Given the description of an element on the screen output the (x, y) to click on. 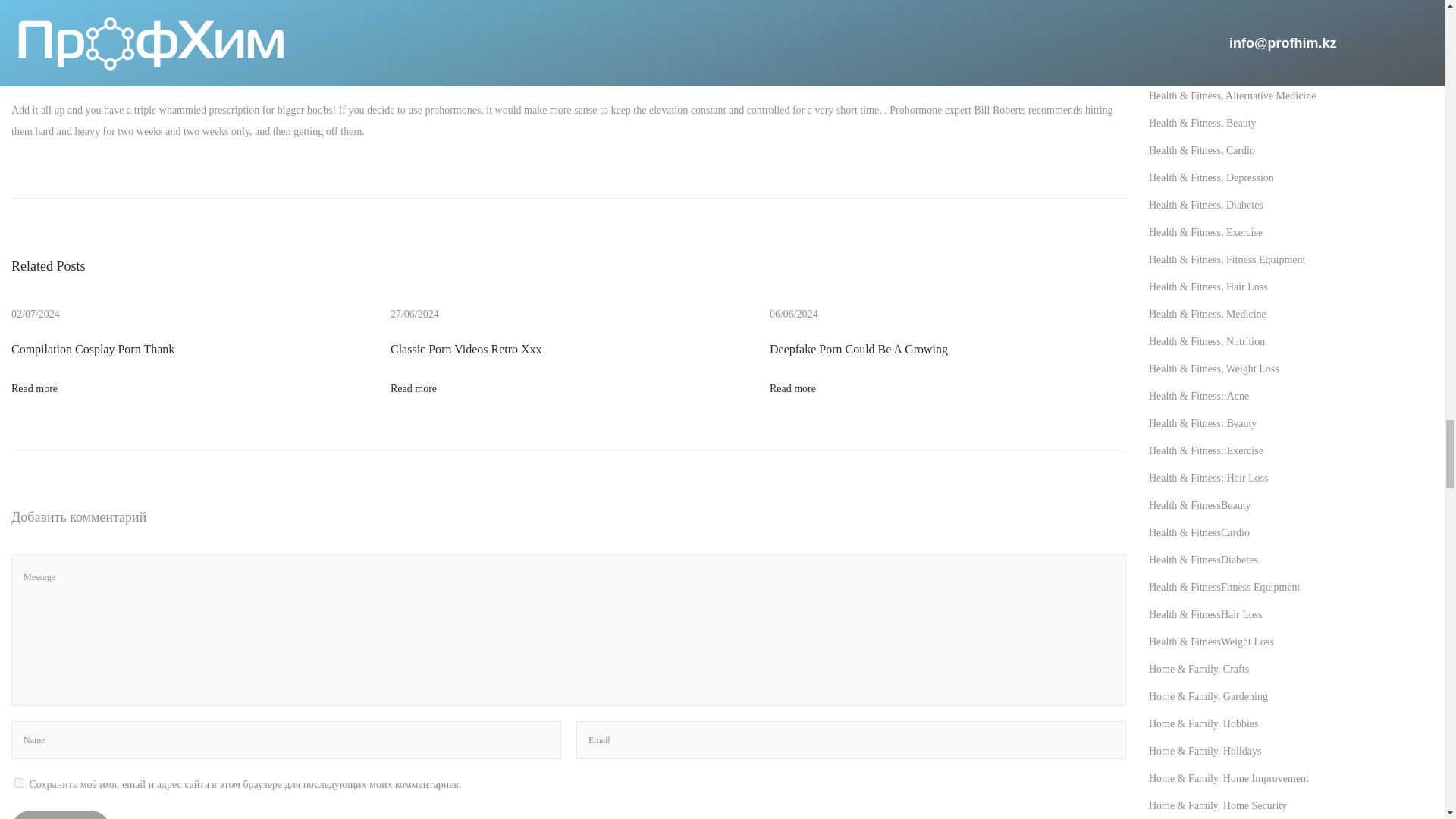
Classic Porn Videos Retro Xxx (465, 349)
Submit (60, 814)
yes (19, 782)
Submit (60, 814)
Read more (413, 388)
Read more (34, 388)
Deepfake Porn Could Be A Growing (858, 349)
Read more (792, 388)
Compilation Cosplay Porn Thank (92, 349)
